Given the description of an element on the screen output the (x, y) to click on. 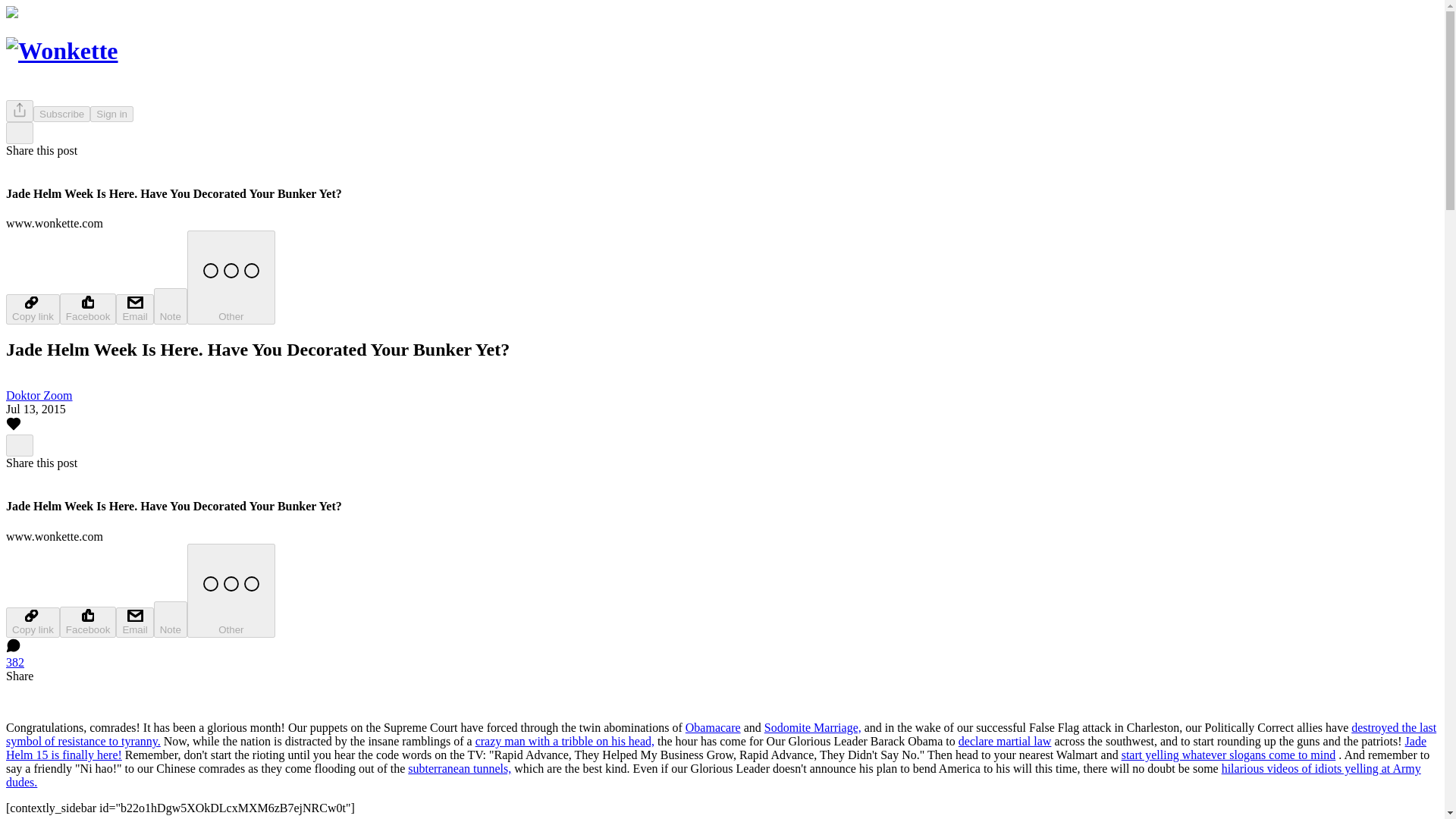
Email (134, 622)
Doktor Zoom (38, 395)
crazy man with a tribble on his head, (564, 740)
Facebook (87, 622)
subterranean tunnels, (459, 768)
Sodomite Marriage, (812, 727)
Jade Helm 15 is finally here! (715, 747)
Other (231, 277)
Obamacare (713, 727)
Subscribe (61, 114)
Facebook (87, 308)
Note (170, 619)
Other (231, 590)
Email (134, 309)
start yelling whatever slogans come to mind (1228, 754)
